Given the description of an element on the screen output the (x, y) to click on. 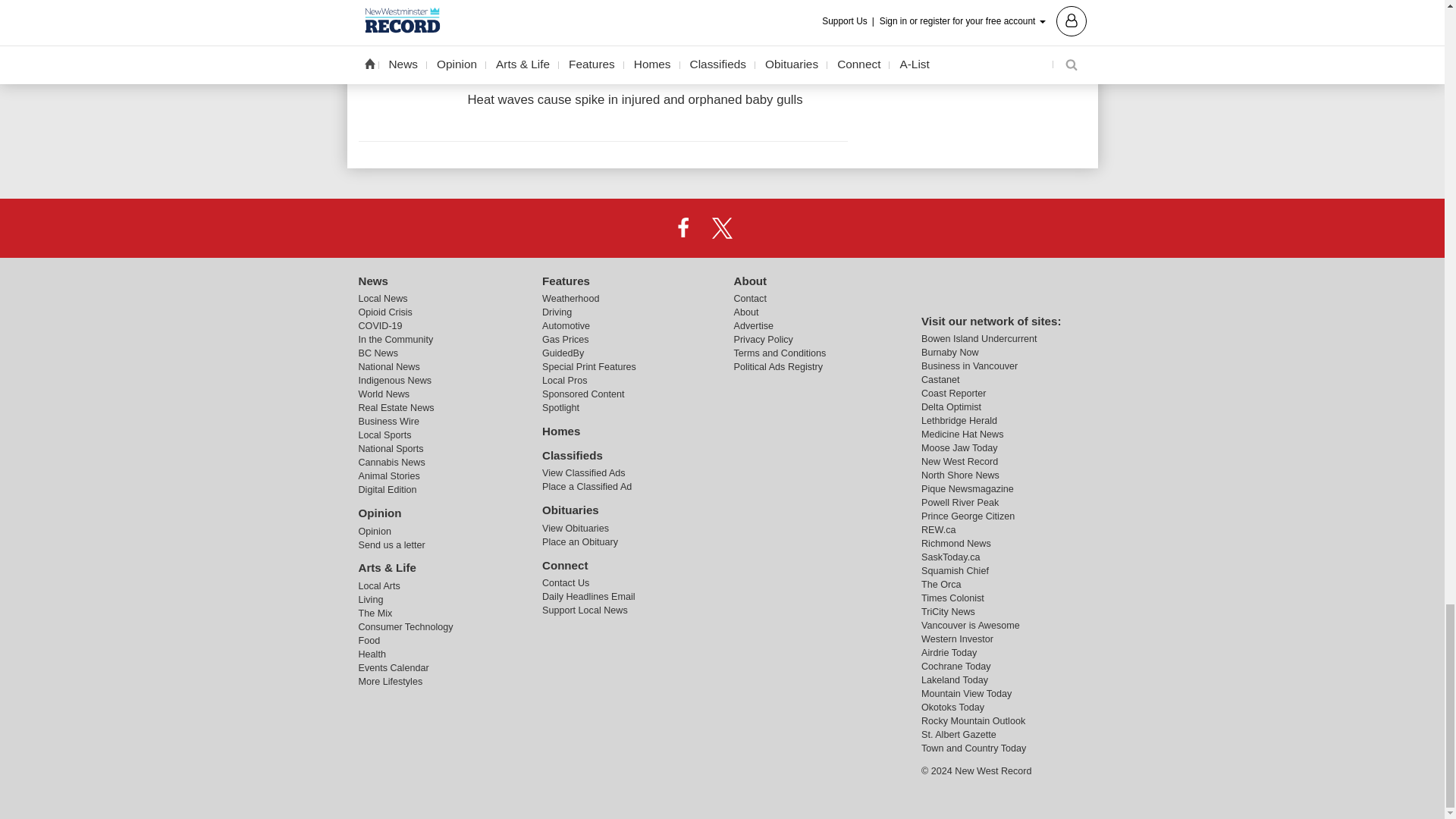
Facebook (683, 226)
Instagram (760, 226)
X (721, 226)
